Given the description of an element on the screen output the (x, y) to click on. 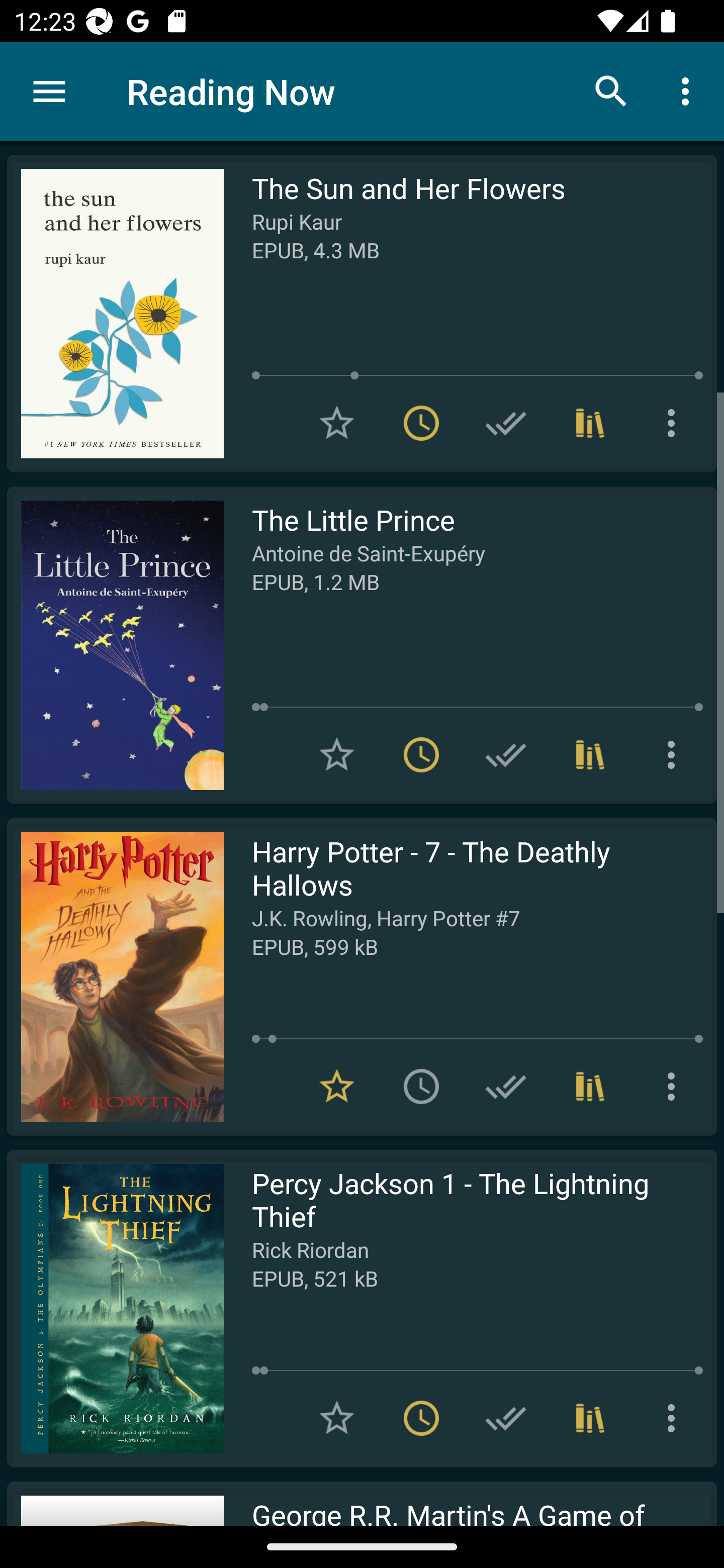
Menu (49, 91)
Search books & documents (611, 90)
More options (688, 90)
Read The Sun and Her Flowers (115, 313)
Add to Favorites (336, 423)
Remove from To read (421, 423)
Add to Have read (505, 423)
Collections (1) (590, 423)
More options (674, 423)
Read The Little Prince (115, 645)
Add to Favorites (336, 753)
Remove from To read (421, 753)
Add to Have read (505, 753)
Collections (1) (590, 753)
More options (674, 753)
Read Harry Potter - 7 - The Deathly Hallows (115, 976)
Remove from Favorites (336, 1086)
Add to To read (421, 1086)
Add to Have read (505, 1086)
Collections (2) (590, 1086)
More options (674, 1086)
Read Percy Jackson 1 - The Lightning Thief (115, 1308)
Add to Favorites (336, 1417)
Remove from To read (421, 1417)
Add to Have read (505, 1417)
Collections (1) (590, 1417)
More options (674, 1417)
